Given the description of an element on the screen output the (x, y) to click on. 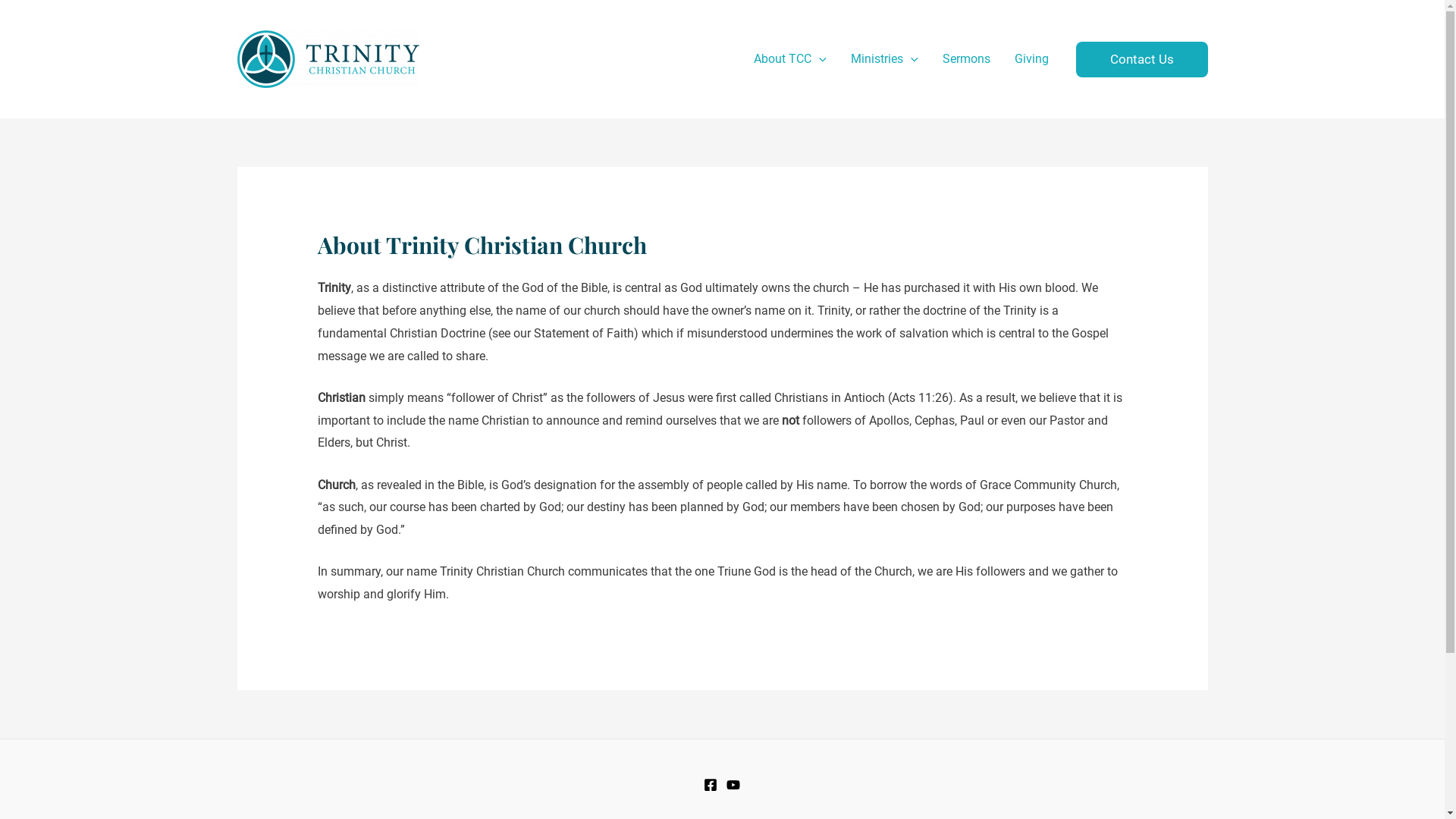
Sermons Element type: text (965, 58)
Ministries Element type: text (884, 58)
Contact Us Element type: text (1141, 58)
Giving Element type: text (1031, 58)
About TCC Element type: text (789, 58)
